Given the description of an element on the screen output the (x, y) to click on. 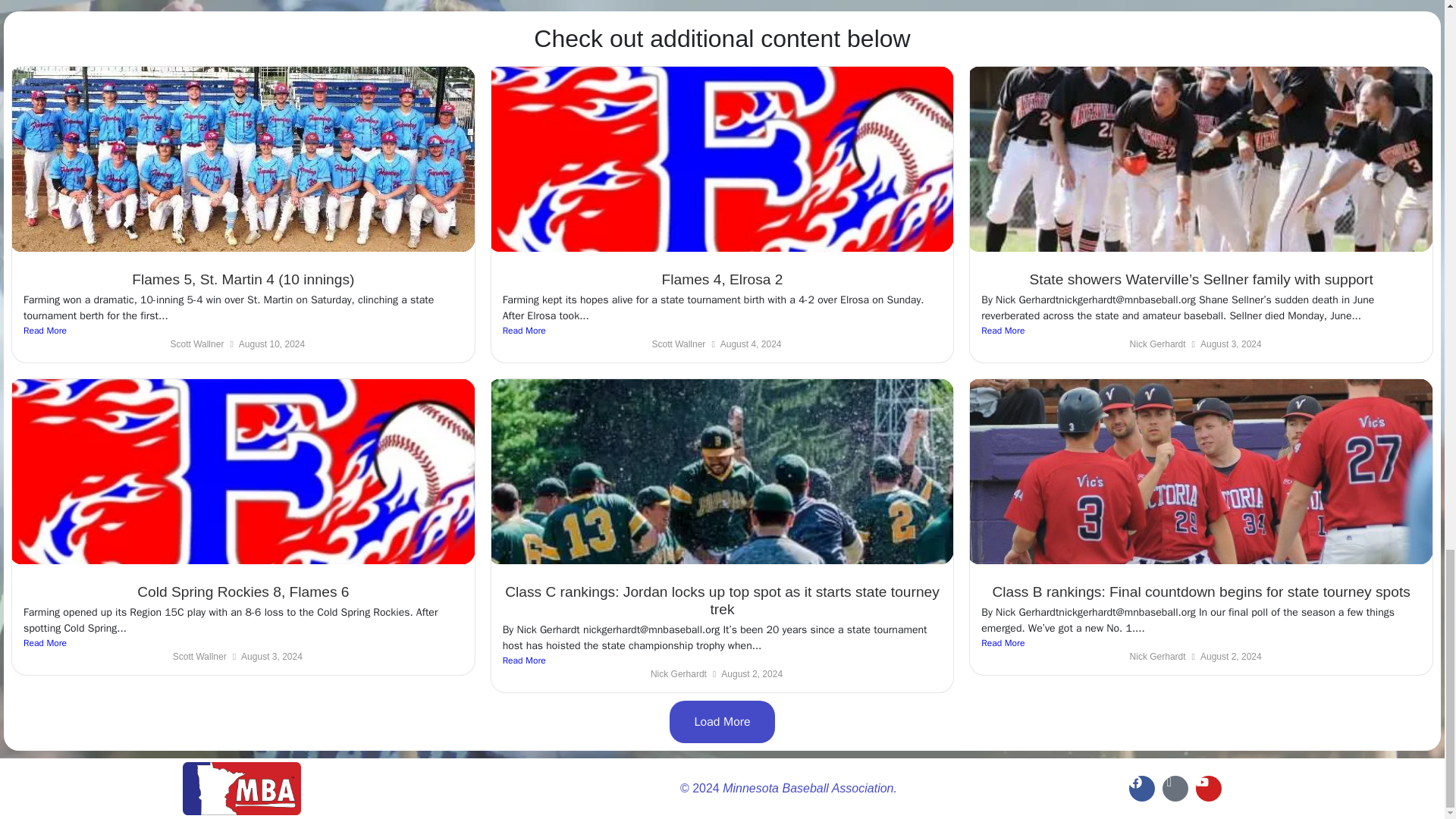
Posts by Nick Gerhardt (1157, 656)
Posts by Scott Wallner (197, 344)
Flames 4, Elrosa 2 (722, 279)
Cold Spring Rockies 8, Flames 6 (242, 591)
Posts by Scott Wallner (677, 344)
Read More (243, 330)
Posts by Nick Gerhardt (1157, 344)
Posts by Nick Gerhardt (678, 674)
